Given the description of an element on the screen output the (x, y) to click on. 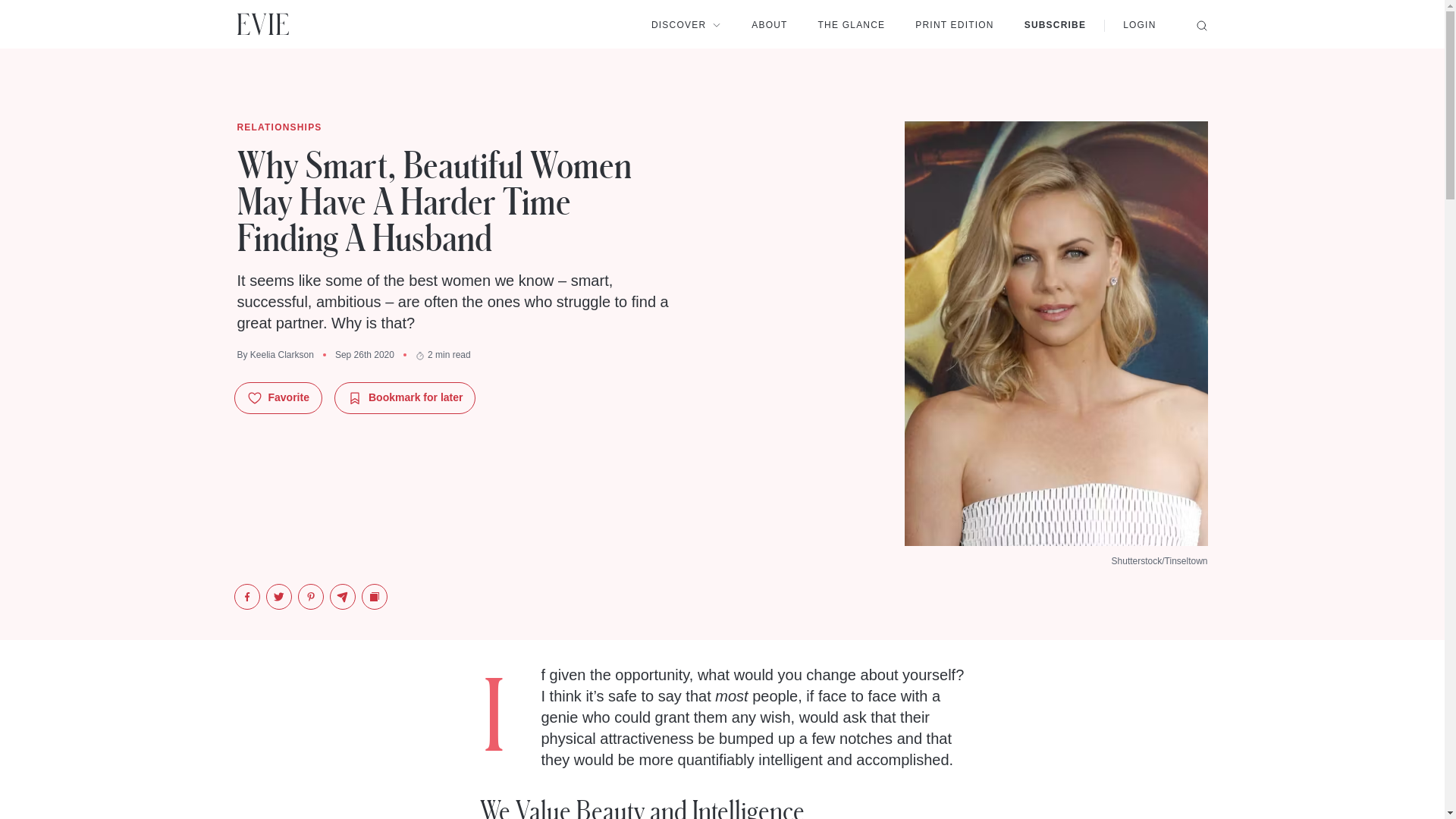
PRINT EDITION (953, 24)
DISCOVER (685, 24)
By Keelia Clarkson (274, 354)
Copy to Clipboard (374, 596)
SUBSCRIBE (1055, 24)
Bookmark for later (405, 398)
ABOUT (769, 24)
Favorite (276, 398)
LOGIN (1139, 24)
THE GLANCE (851, 24)
Evie Magazine (261, 24)
